Given the description of an element on the screen output the (x, y) to click on. 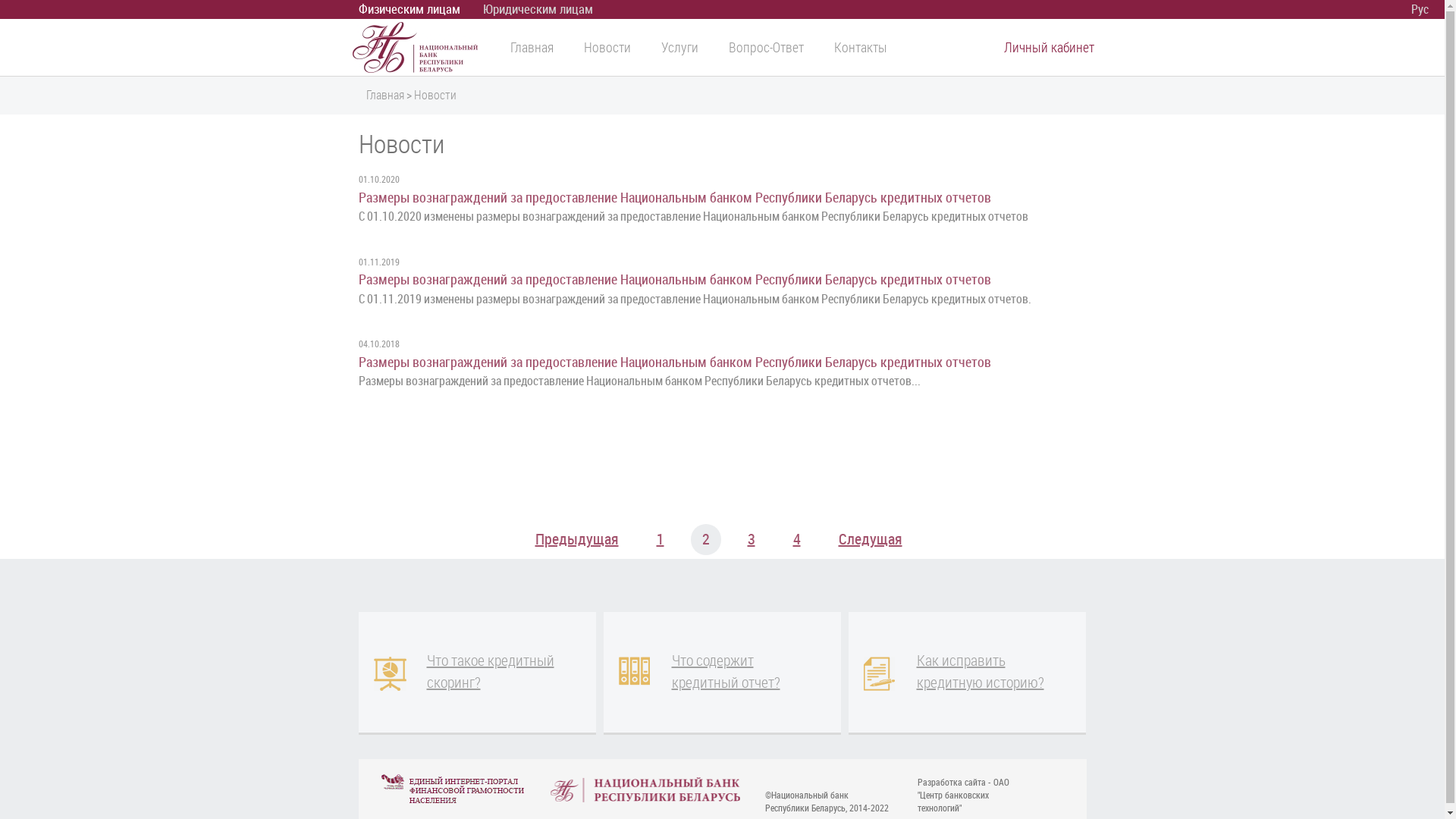
1 Element type: text (659, 539)
3 Element type: text (750, 539)
2 Element type: text (705, 539)
4 Element type: text (796, 539)
